Given the description of an element on the screen output the (x, y) to click on. 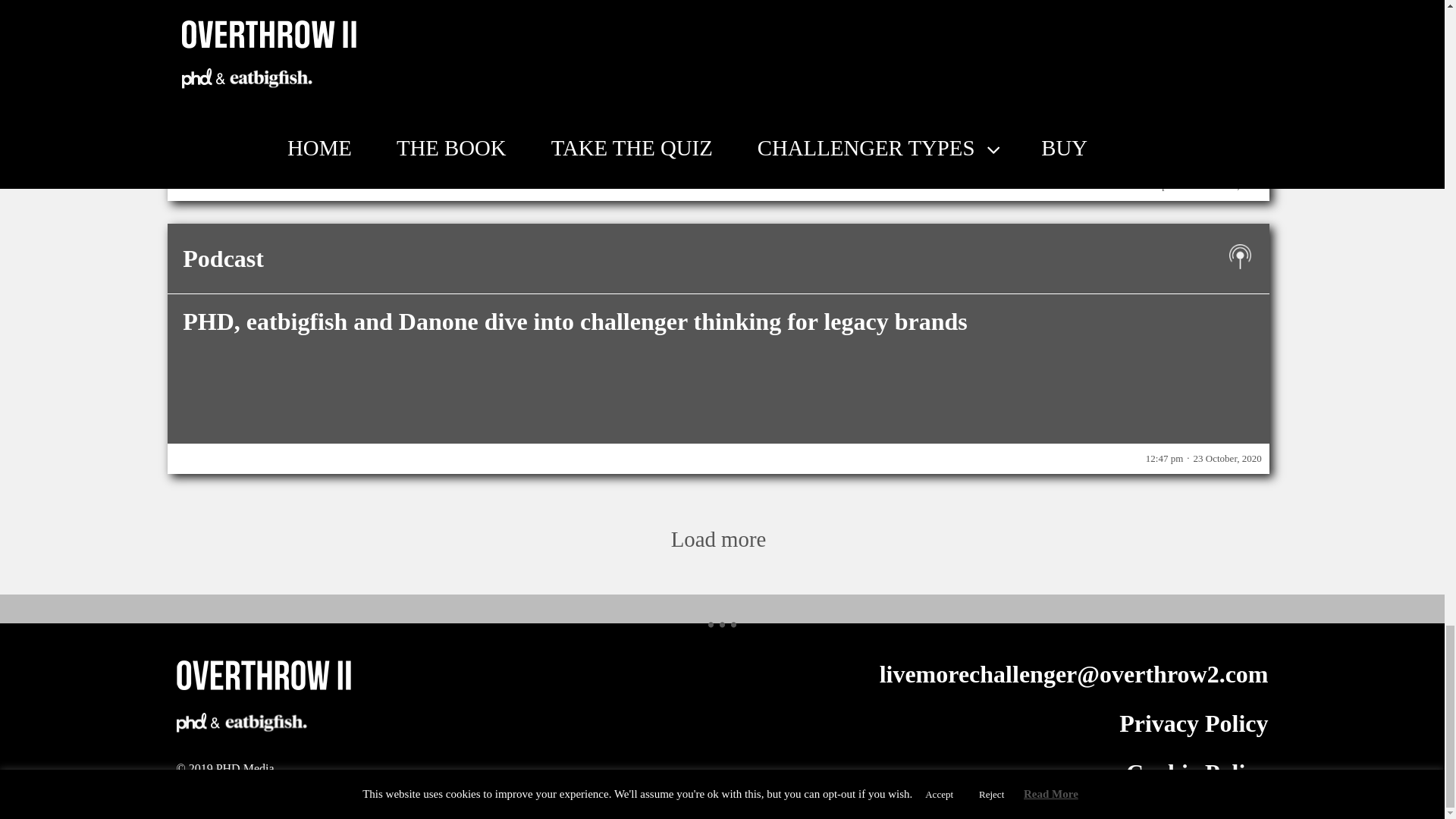
Load more (718, 527)
Privacy Policy (1193, 723)
Cookie Policy (1196, 772)
